Given the description of an element on the screen output the (x, y) to click on. 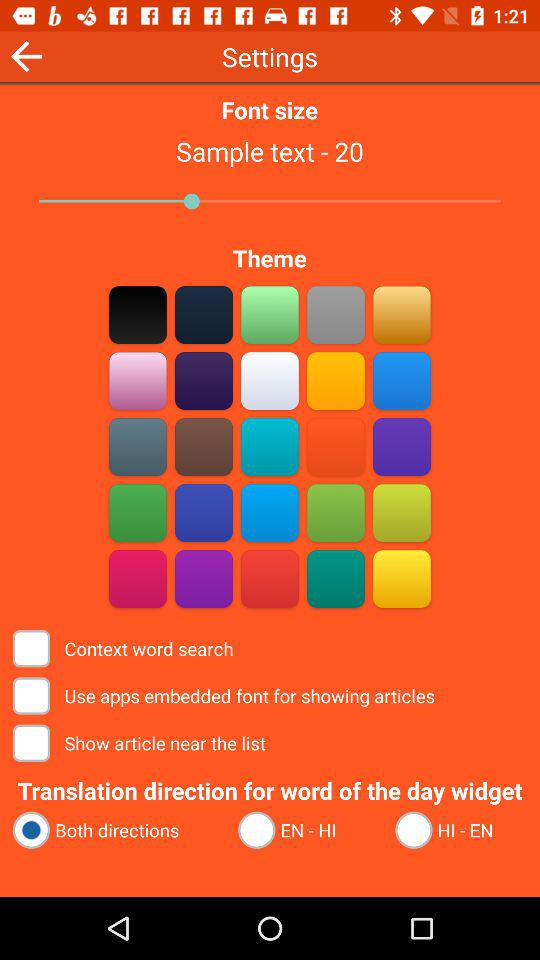
select color theme (269, 512)
